Given the description of an element on the screen output the (x, y) to click on. 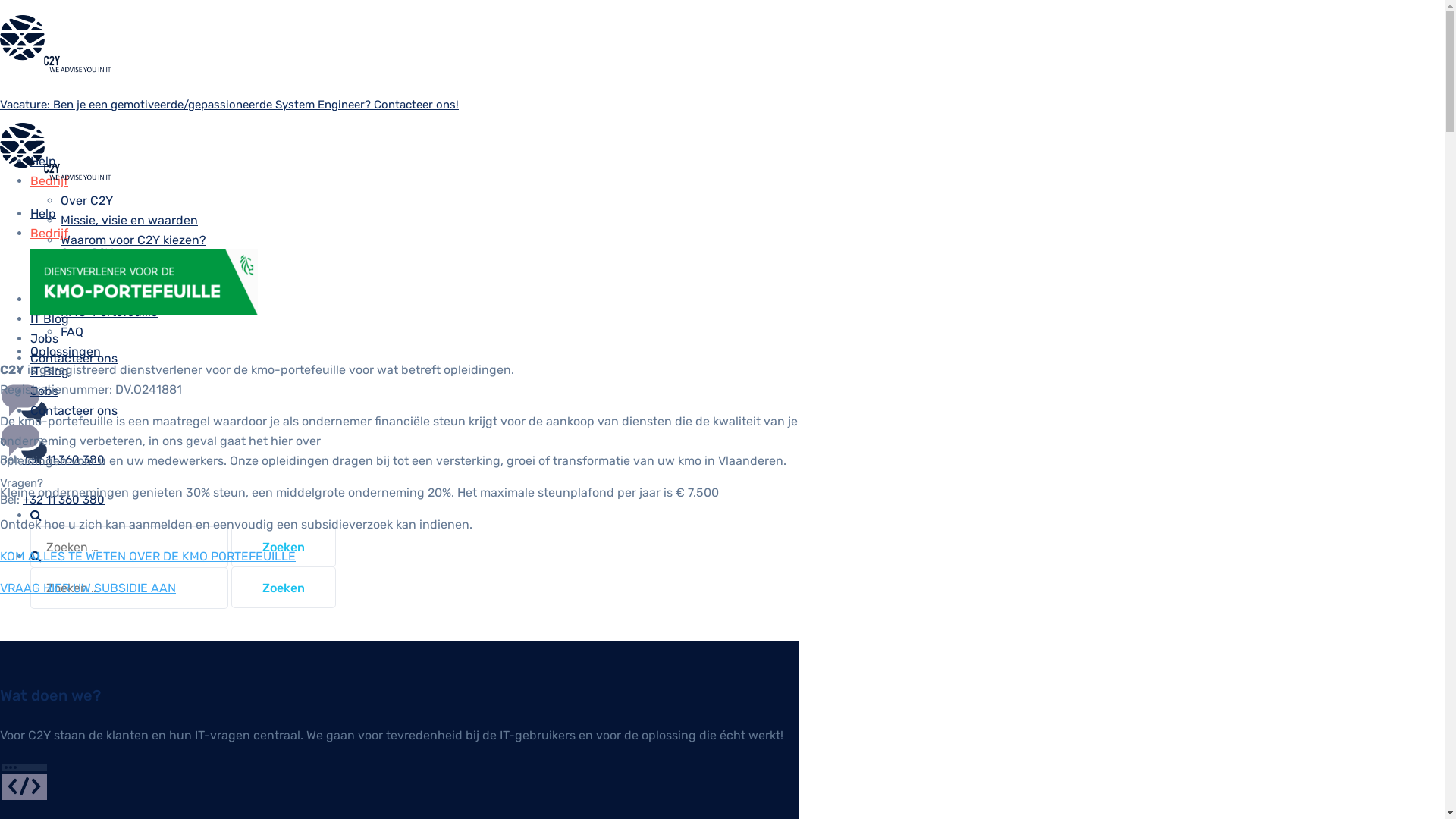
KMO-Portefeuille Element type: text (108, 259)
IT Blog Element type: text (49, 318)
Over C2Y Element type: text (86, 200)
KOM ALLES TE WETEN OVER DE KMO PORTEFEUILLE Element type: text (147, 556)
Help Element type: text (43, 213)
+32 11 360 380 Element type: text (63, 459)
Missie, visie en waarden Element type: text (128, 220)
Bedrijf Element type: text (49, 232)
VRAAG HIER UW SUBSIDIE AAN Element type: text (87, 587)
Jobs Element type: text (44, 338)
KMO-Portefeuille Element type: text (108, 311)
Jobs Element type: text (44, 390)
Waarom voor C2Y kiezen? Element type: text (133, 292)
+32 11 360 380 Element type: text (63, 499)
Help Element type: text (43, 160)
Bedrijf Element type: text (49, 180)
Contacteer ons Element type: text (73, 357)
Zoeken Element type: text (283, 546)
IT Blog Element type: text (49, 370)
Oplossingen Element type: text (65, 298)
Zoeken Element type: text (283, 587)
FAQ Element type: text (71, 279)
Contacteer ons Element type: text (73, 410)
Missie, visie en waarden Element type: text (128, 272)
Oplossingen Element type: text (65, 351)
FAQ Element type: text (71, 331)
Over C2Y Element type: text (86, 252)
Waarom voor C2Y kiezen? Element type: text (133, 239)
